Given the description of an element on the screen output the (x, y) to click on. 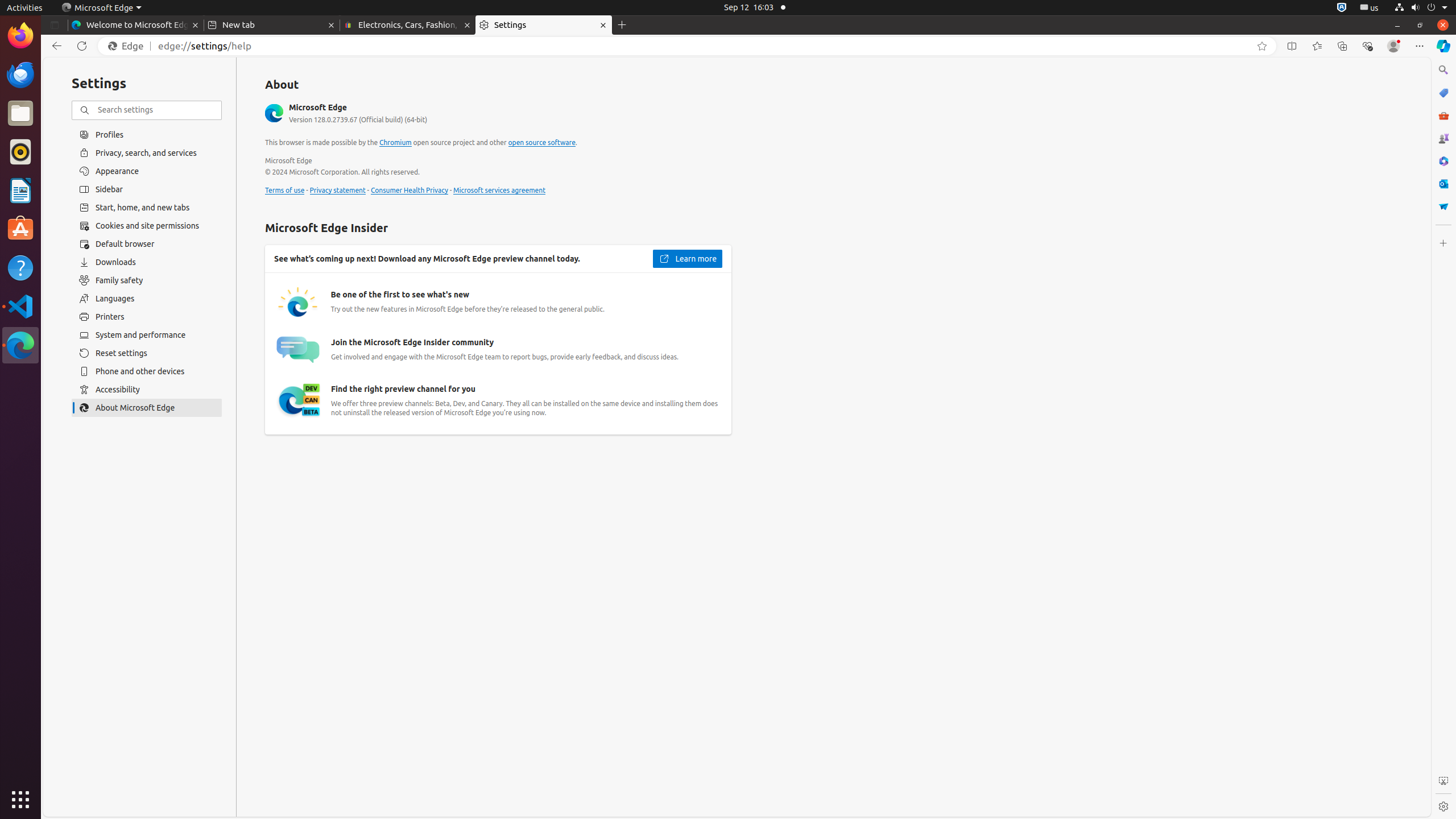
Back Element type: push-button (54, 45)
Customize Element type: push-button (1443, 243)
Privacy statement Element type: link (337, 190)
Favorites Element type: push-button (1316, 45)
Show Applications Element type: toggle-button (20, 799)
